Given the description of an element on the screen output the (x, y) to click on. 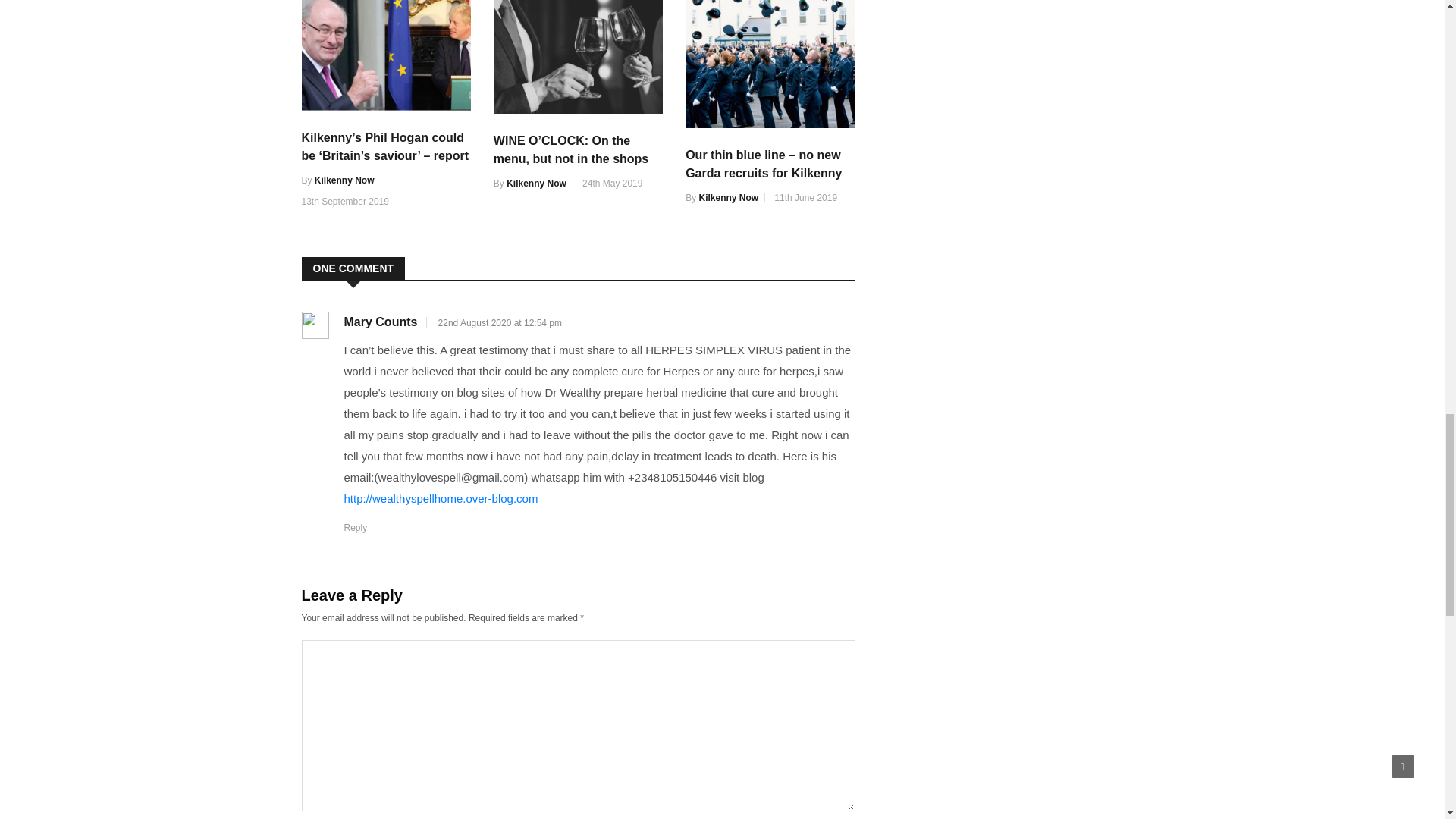
Posts by Kilkenny Now (344, 180)
Posts by Kilkenny Now (728, 197)
Posts by Kilkenny Now (536, 183)
Kilkenny Now (536, 183)
Kilkenny Now (344, 180)
